Given the description of an element on the screen output the (x, y) to click on. 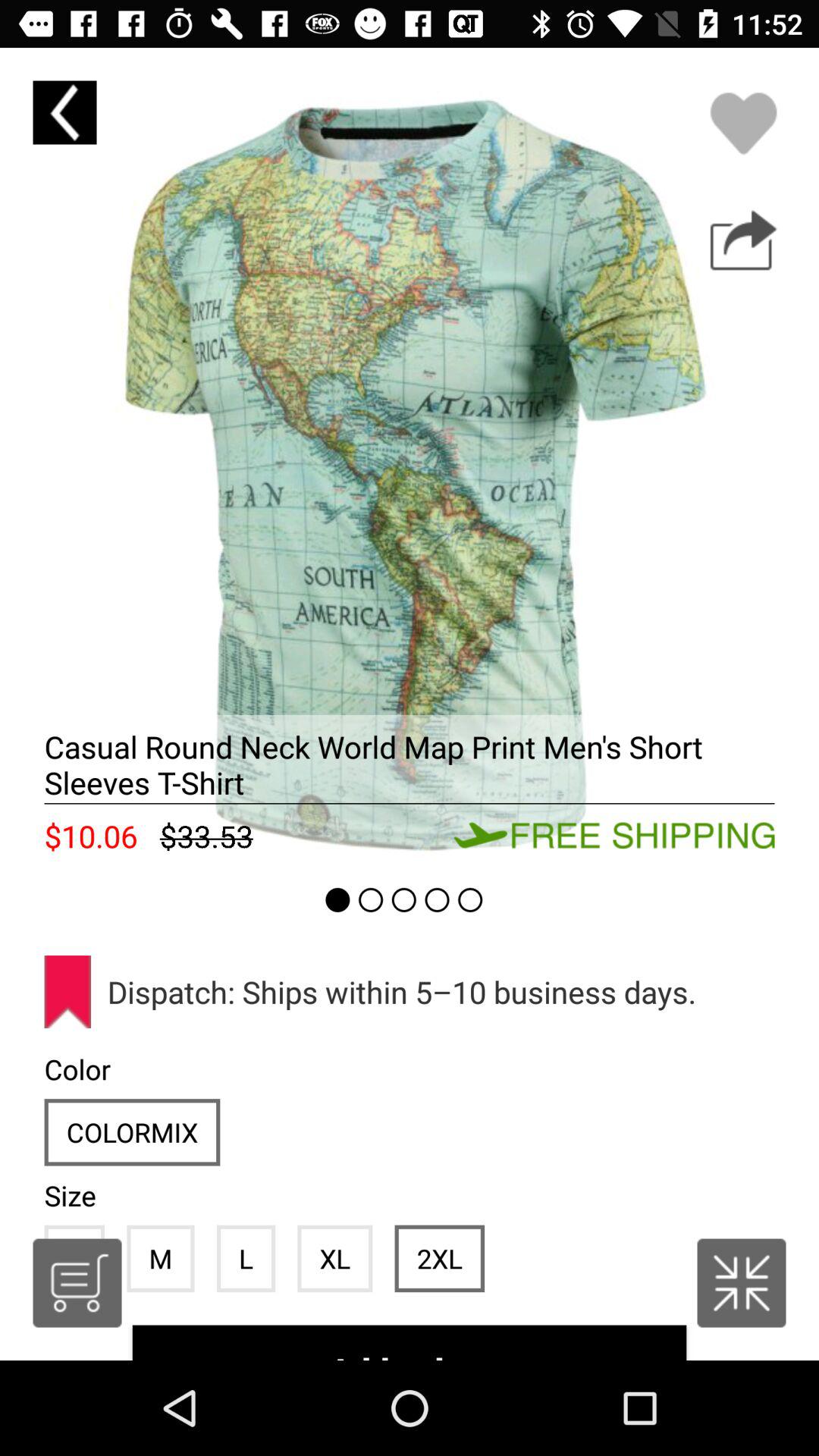
to previous page (64, 112)
